Given the description of an element on the screen output the (x, y) to click on. 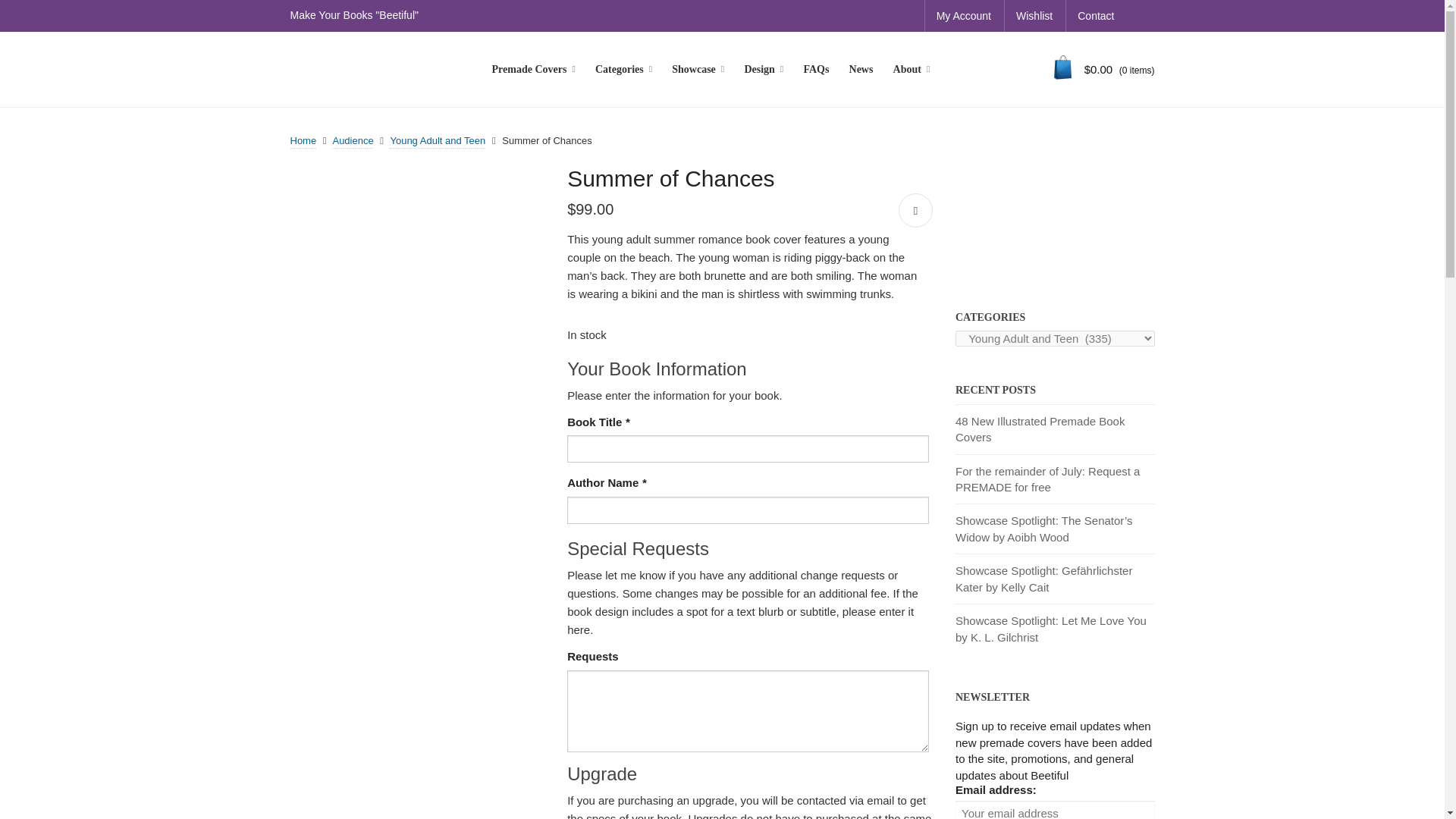
Contact (1095, 15)
Wishlist (1034, 15)
Contact (1095, 15)
My Account (963, 15)
View your shopping cart (1104, 70)
My Account (963, 15)
Premade Covers (533, 69)
Wishlist (1034, 15)
